Given the description of an element on the screen output the (x, y) to click on. 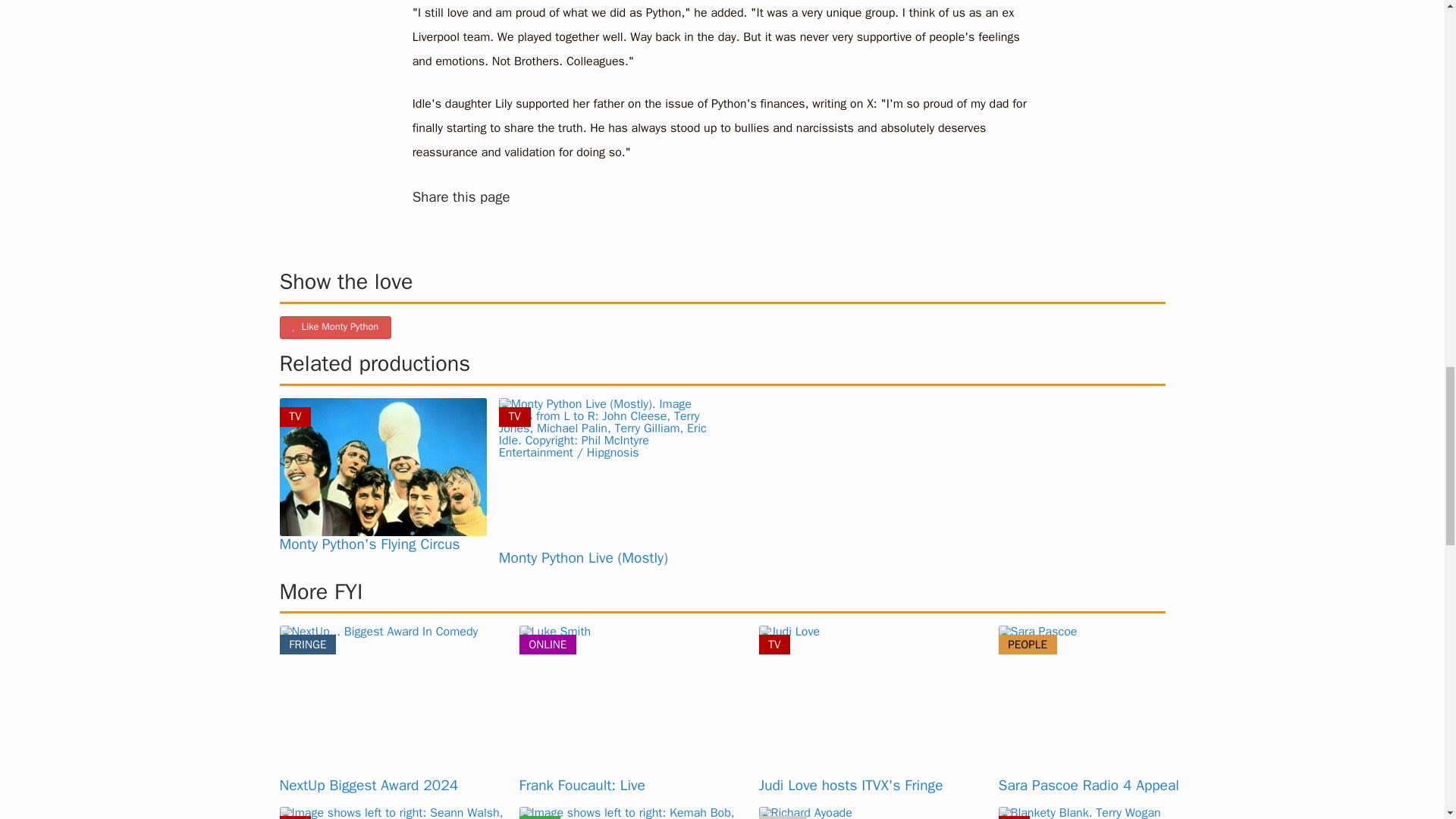
Monty Python's Flying Circus (369, 544)
NextUp... Biggest Award In Comedy (392, 701)
Like for updates and more (335, 327)
Like Monty Python (335, 327)
NextUp Biggest Award 2024 (368, 785)
